Given the description of an element on the screen output the (x, y) to click on. 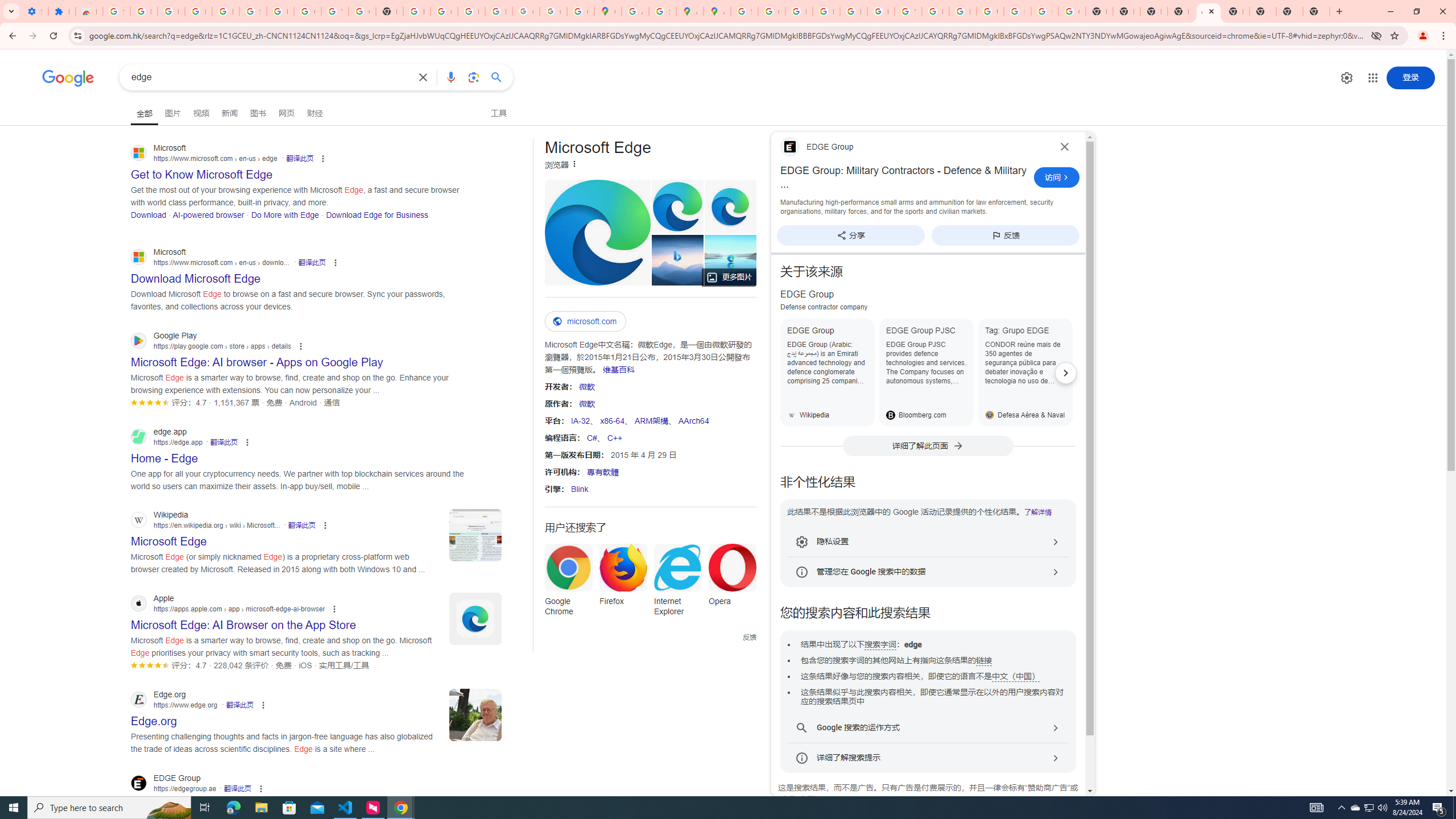
Google Account (307, 11)
Microsoft Edge help & learning (676, 260)
Safety in Our Products - Google Safety Center (662, 11)
x86-64 (611, 420)
C++ (615, 437)
